Given the description of an element on the screen output the (x, y) to click on. 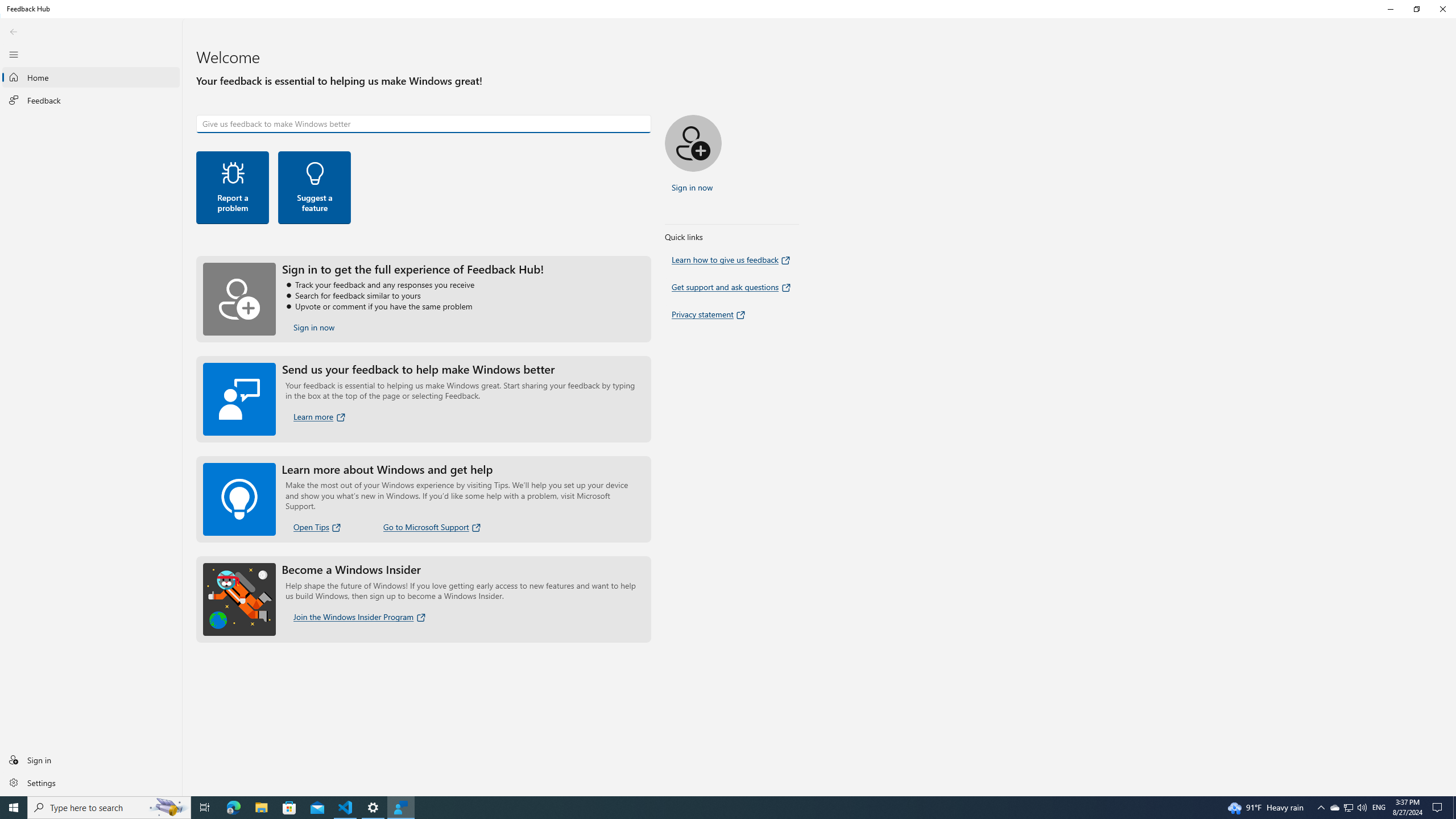
Learn more about providing feedback. (319, 416)
